Given the description of an element on the screen output the (x, y) to click on. 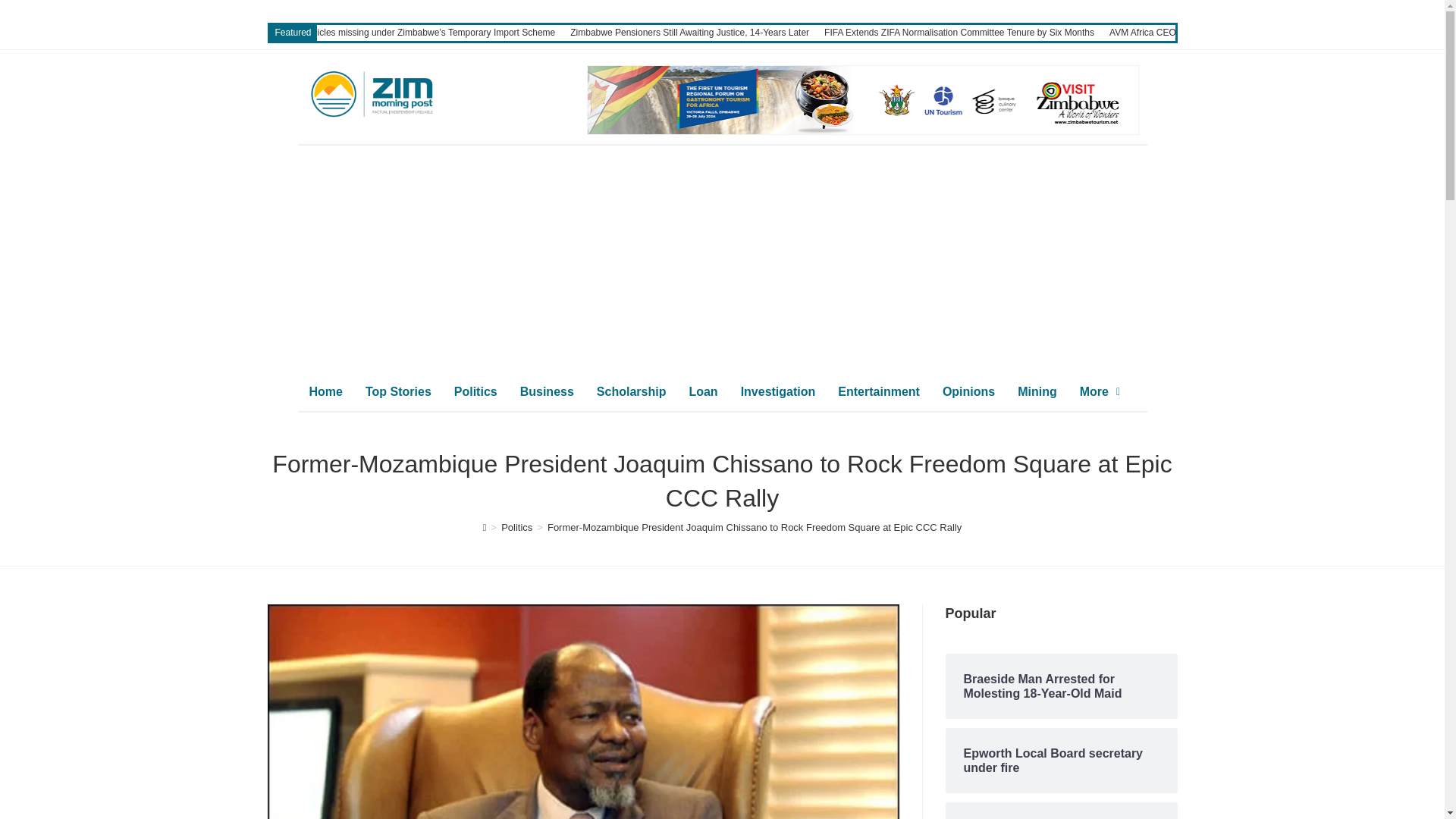
More (1099, 391)
Loan (703, 391)
Investigation (778, 391)
Mining (1037, 391)
Politics (475, 391)
Entertainment (879, 391)
Business (546, 391)
Scholarship (631, 391)
Zimbabwe Pensioners Still Awaiting Justice, 14-Years Later (689, 32)
Opinions (968, 391)
Home (325, 391)
Top Stories (397, 391)
